Given the description of an element on the screen output the (x, y) to click on. 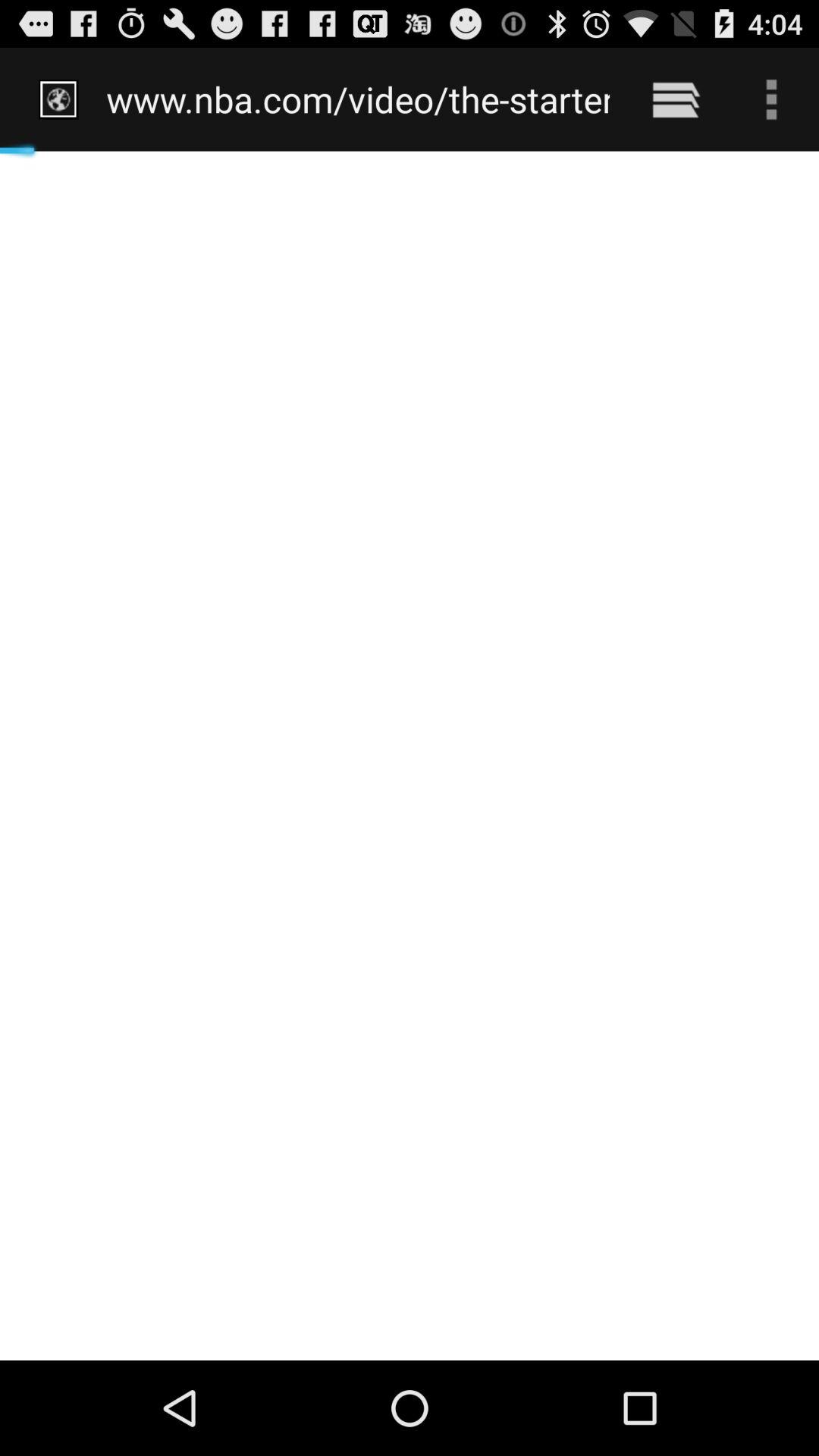
click the item at the center (409, 755)
